Given the description of an element on the screen output the (x, y) to click on. 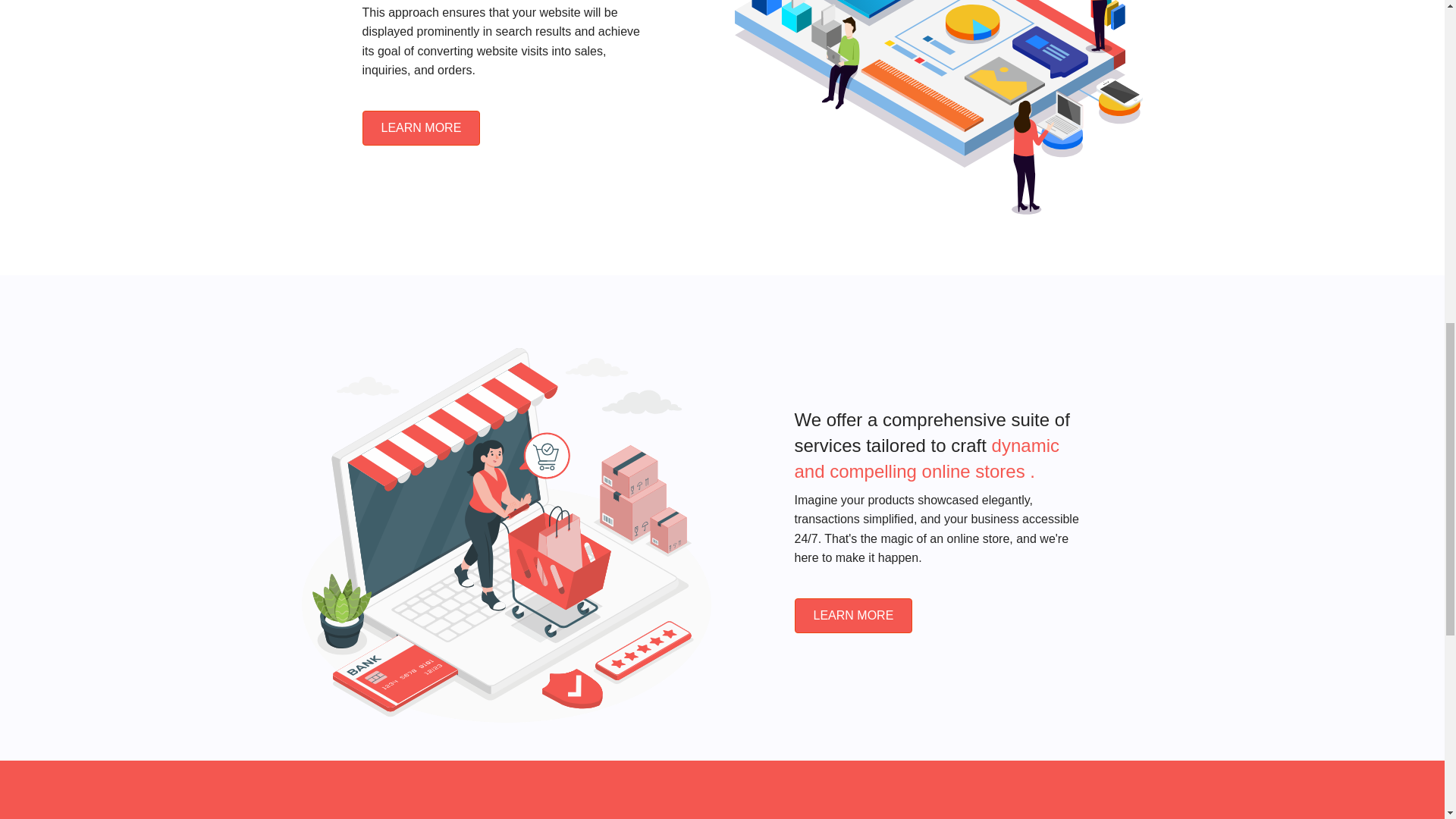
LEARN MORE (853, 615)
LEARN MORE (421, 127)
